Given the description of an element on the screen output the (x, y) to click on. 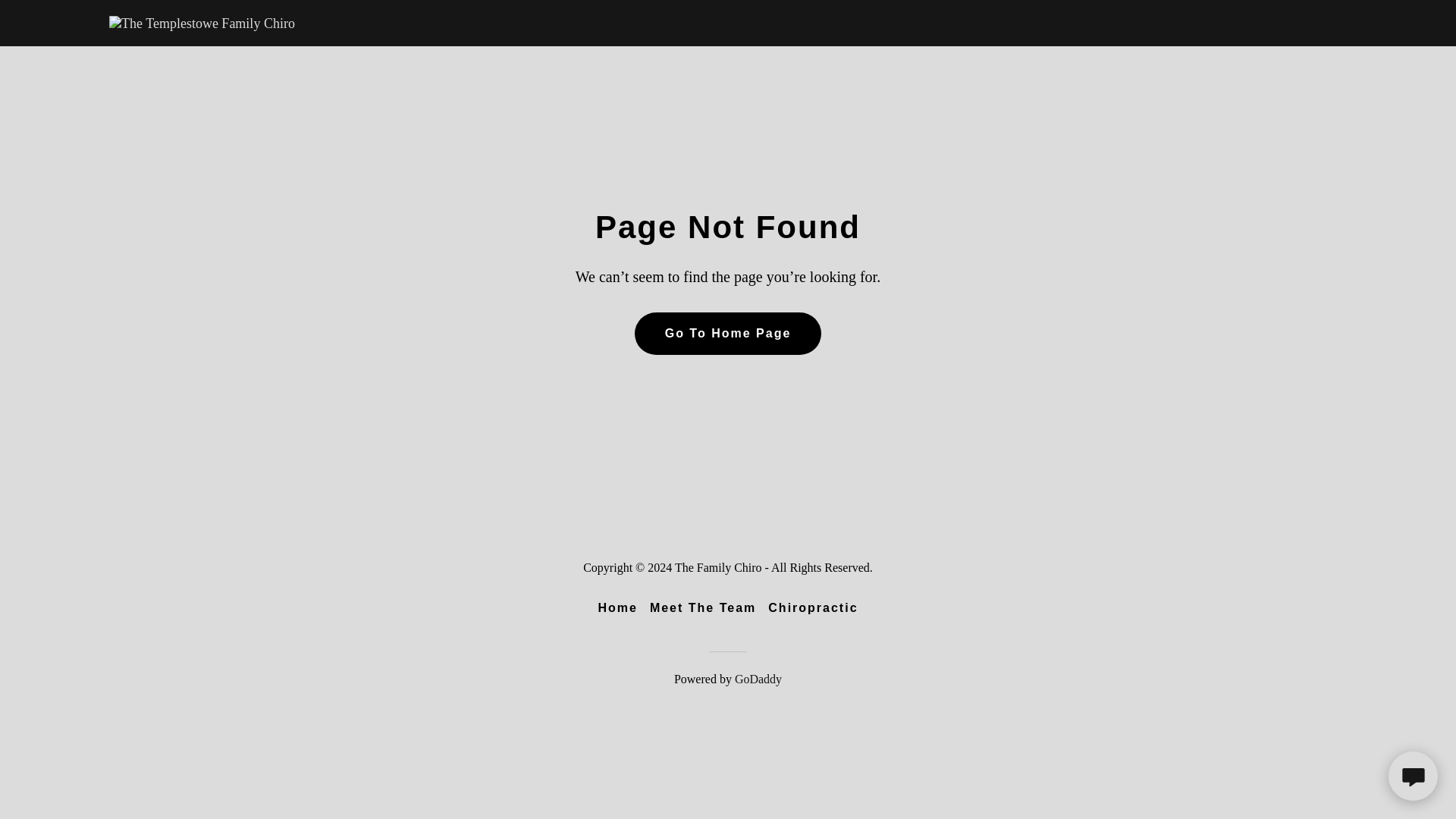
The Templestowe Family Chiro (202, 21)
Chiropractic (812, 607)
Go To Home Page (728, 333)
Meet The Team (702, 607)
Home (617, 607)
GoDaddy (758, 678)
